Given the description of an element on the screen output the (x, y) to click on. 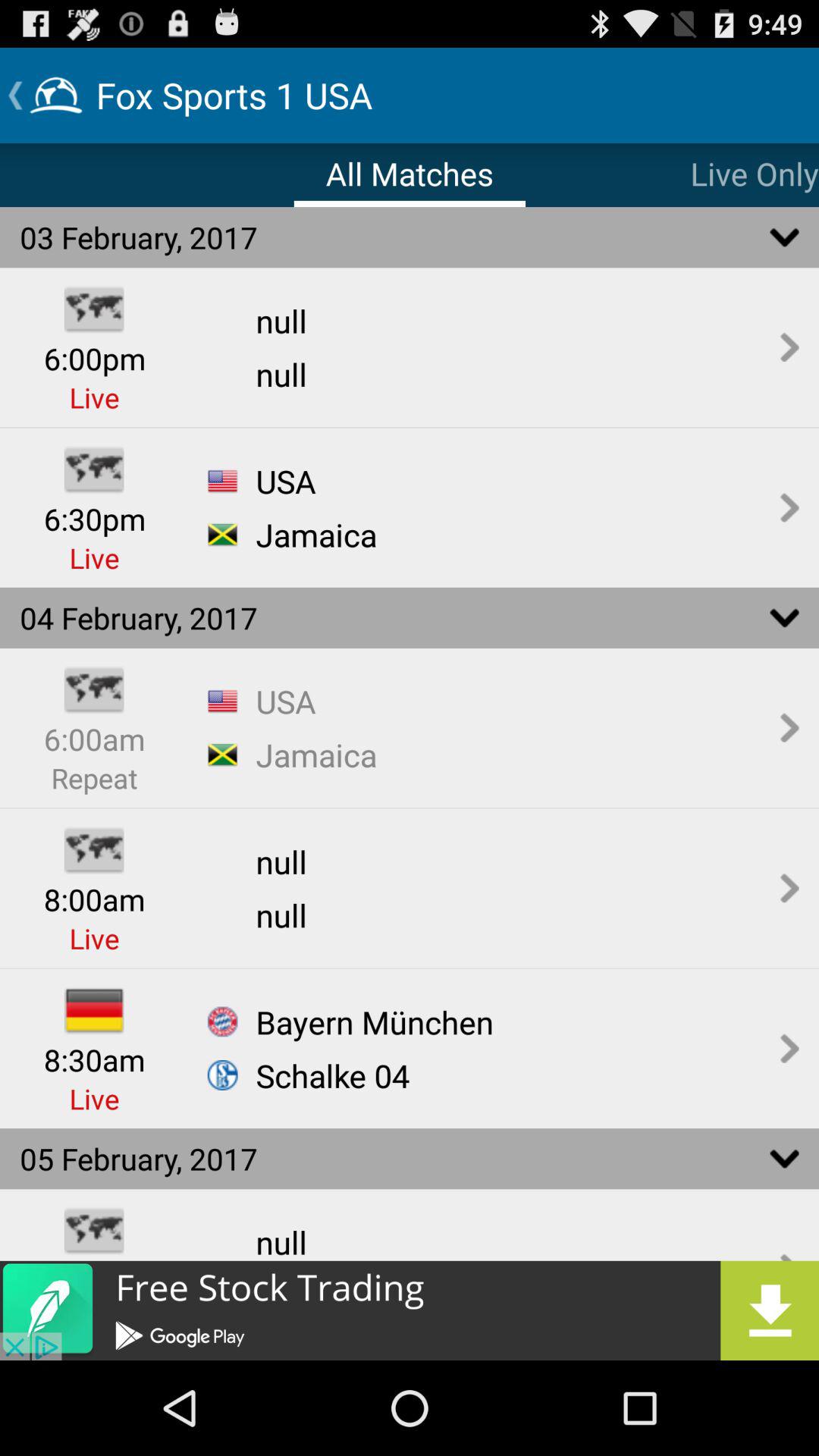
advertisement (409, 1310)
